Given the description of an element on the screen output the (x, y) to click on. 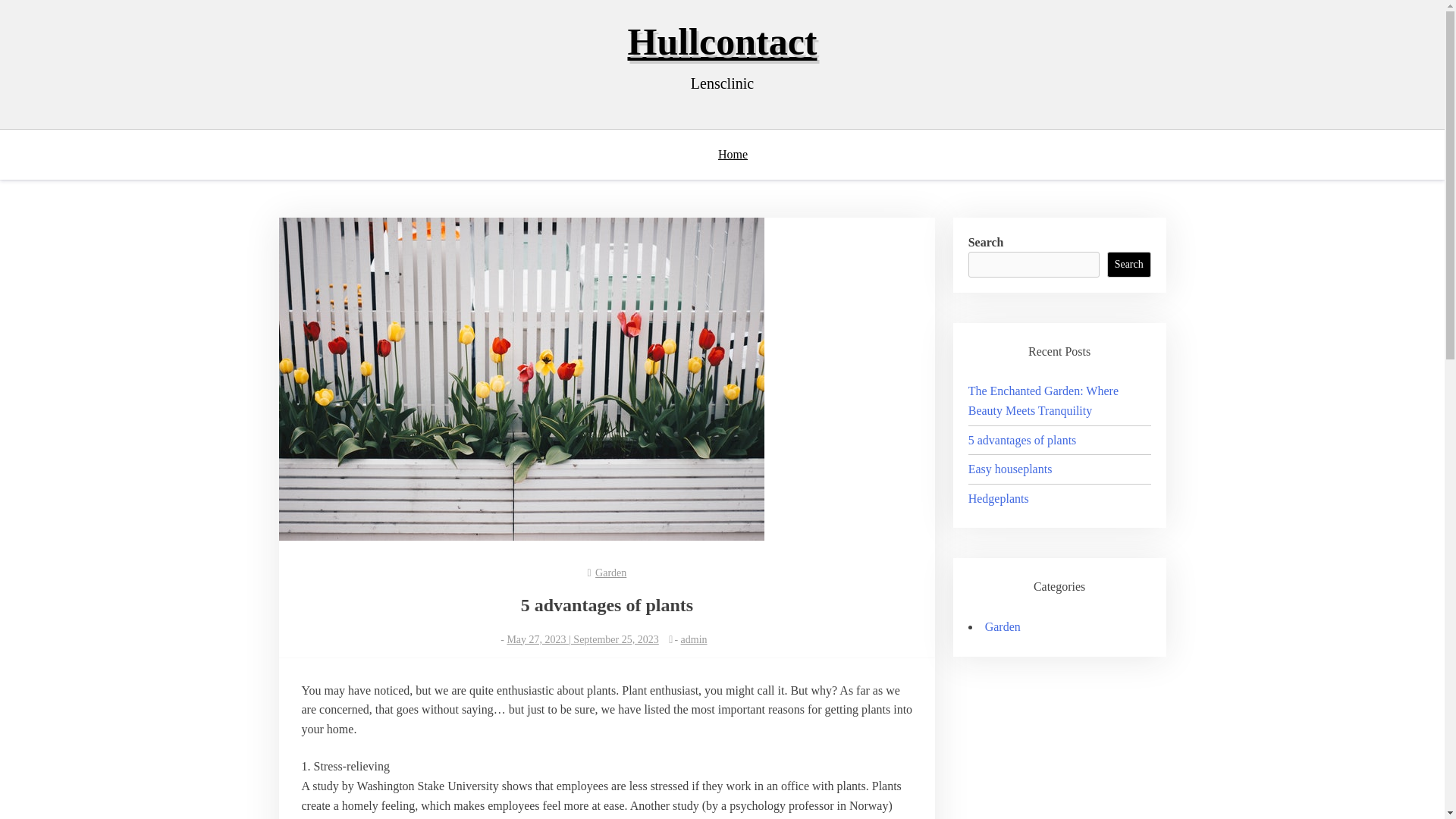
Hedgeplants (998, 498)
5 advantages of plants (1022, 440)
Hullcontact (721, 41)
Search (1128, 264)
admin (694, 639)
Easy houseplants (1010, 468)
Garden (1002, 626)
Garden (610, 572)
The Enchanted Garden: Where Beauty Meets Tranquility (1043, 400)
Home (739, 154)
